Given the description of an element on the screen output the (x, y) to click on. 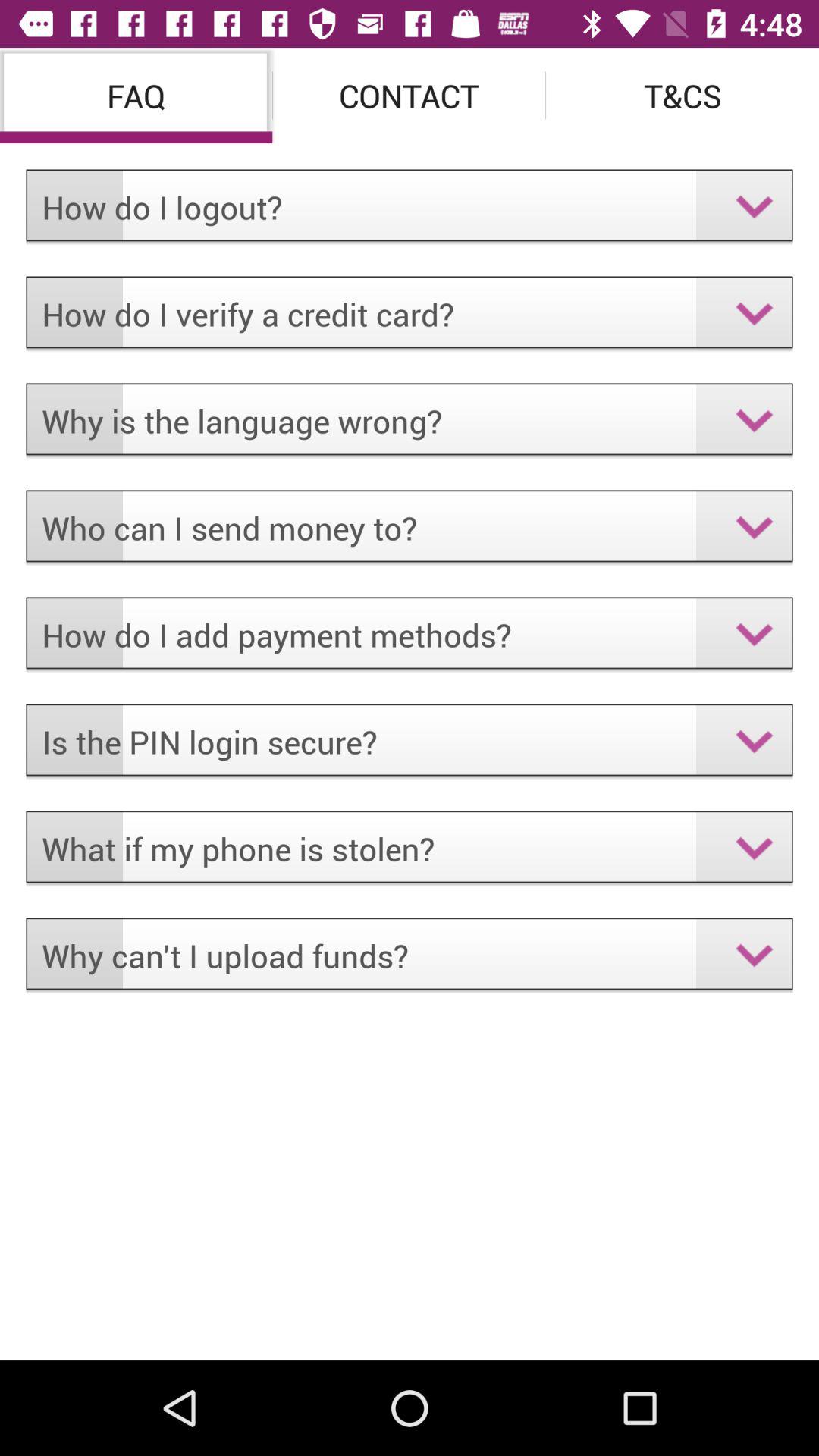
press t&cs icon (682, 95)
